Given the description of an element on the screen output the (x, y) to click on. 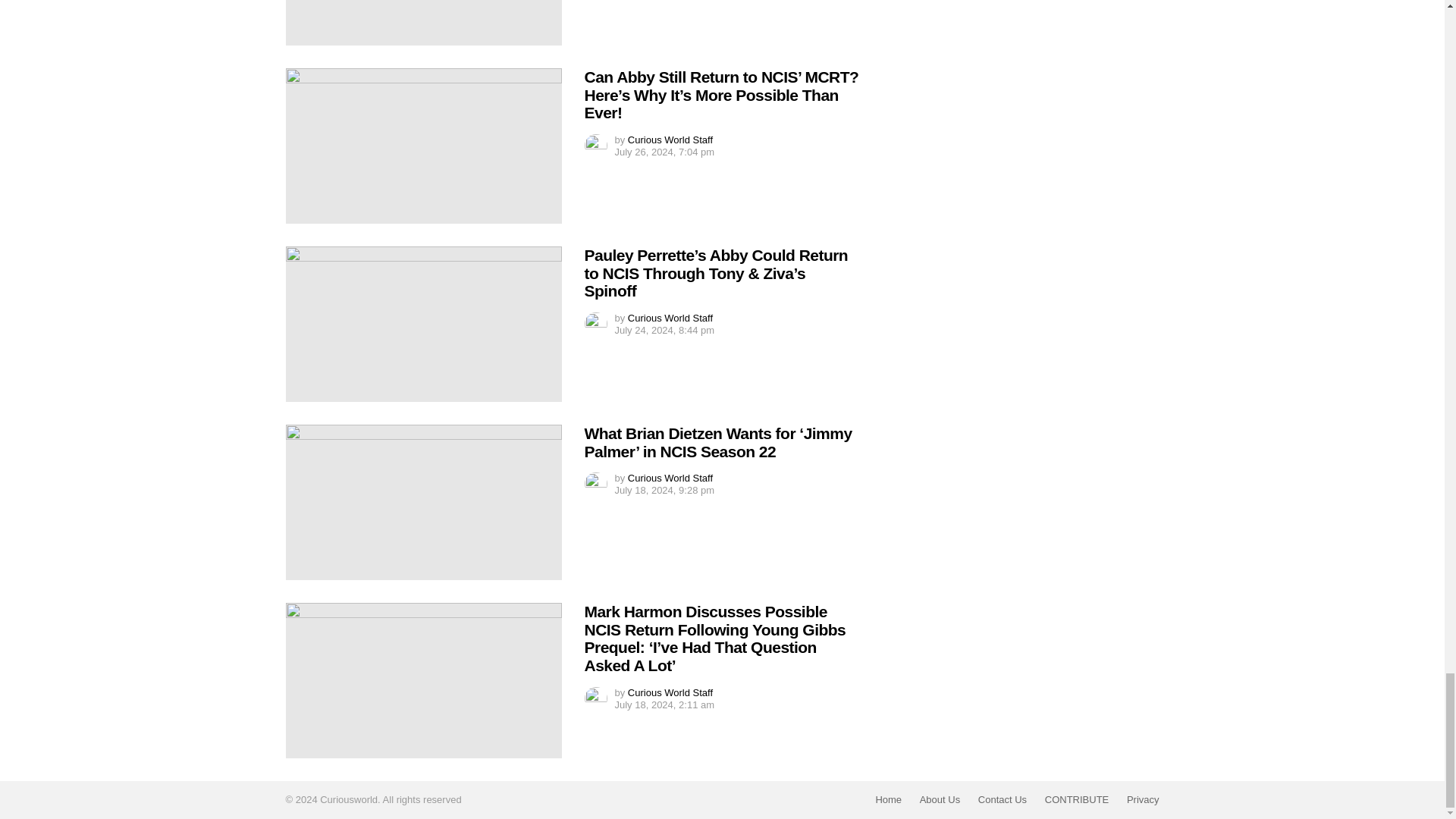
Posts by Curious World Staff (670, 478)
Posts by Curious World Staff (670, 139)
Posts by Curious World Staff (670, 317)
